Given the description of an element on the screen output the (x, y) to click on. 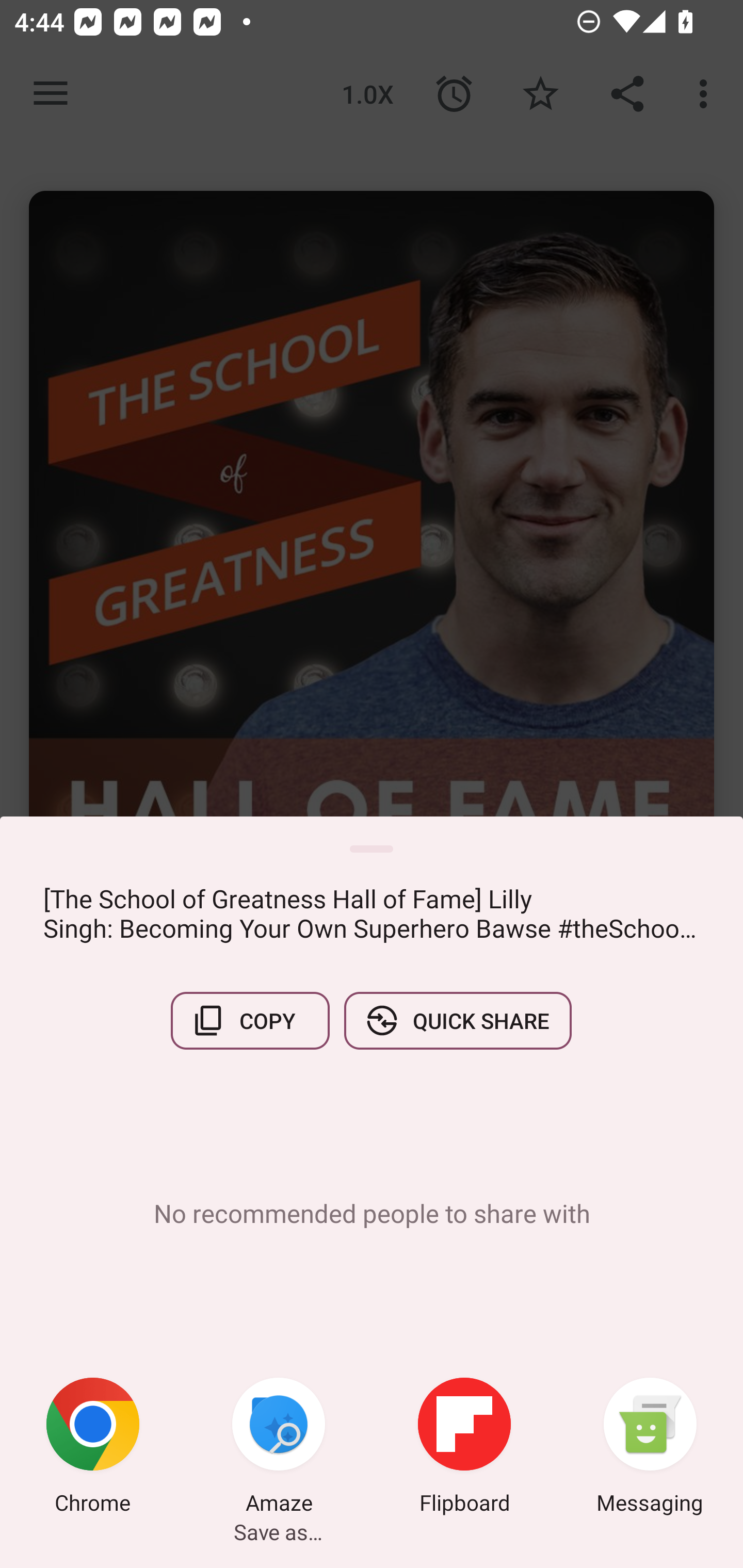
COPY (249, 1020)
QUICK SHARE (457, 1020)
Chrome (92, 1448)
Amaze Save as… (278, 1448)
Flipboard (464, 1448)
Messaging (650, 1448)
